Given the description of an element on the screen output the (x, y) to click on. 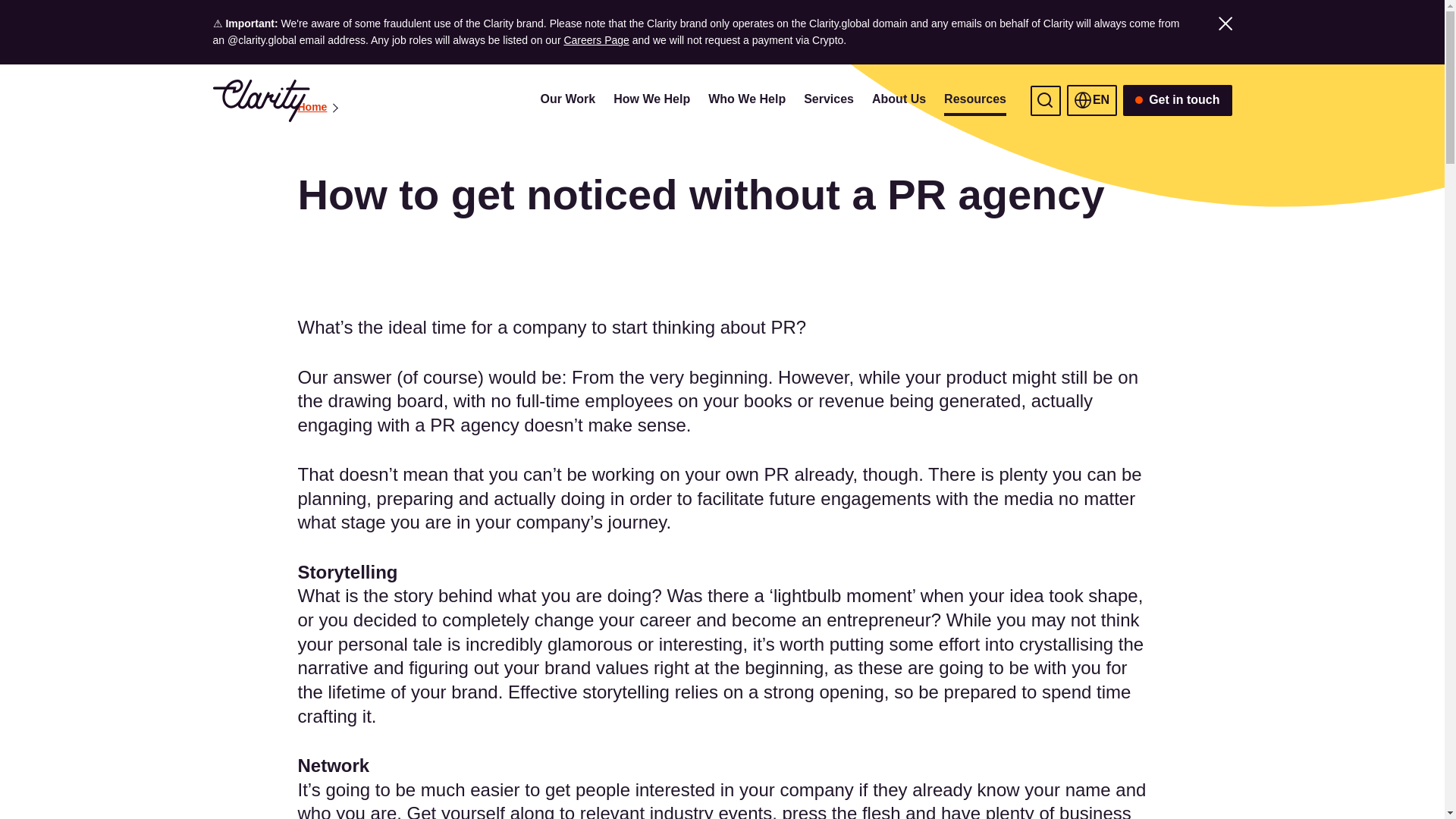
Services (828, 100)
Careers Page (595, 39)
Skip To Main Content (228, 101)
Clarity Global (260, 100)
Our Work (567, 100)
Select to close (1224, 23)
Who We Help (746, 100)
